Given the description of an element on the screen output the (x, y) to click on. 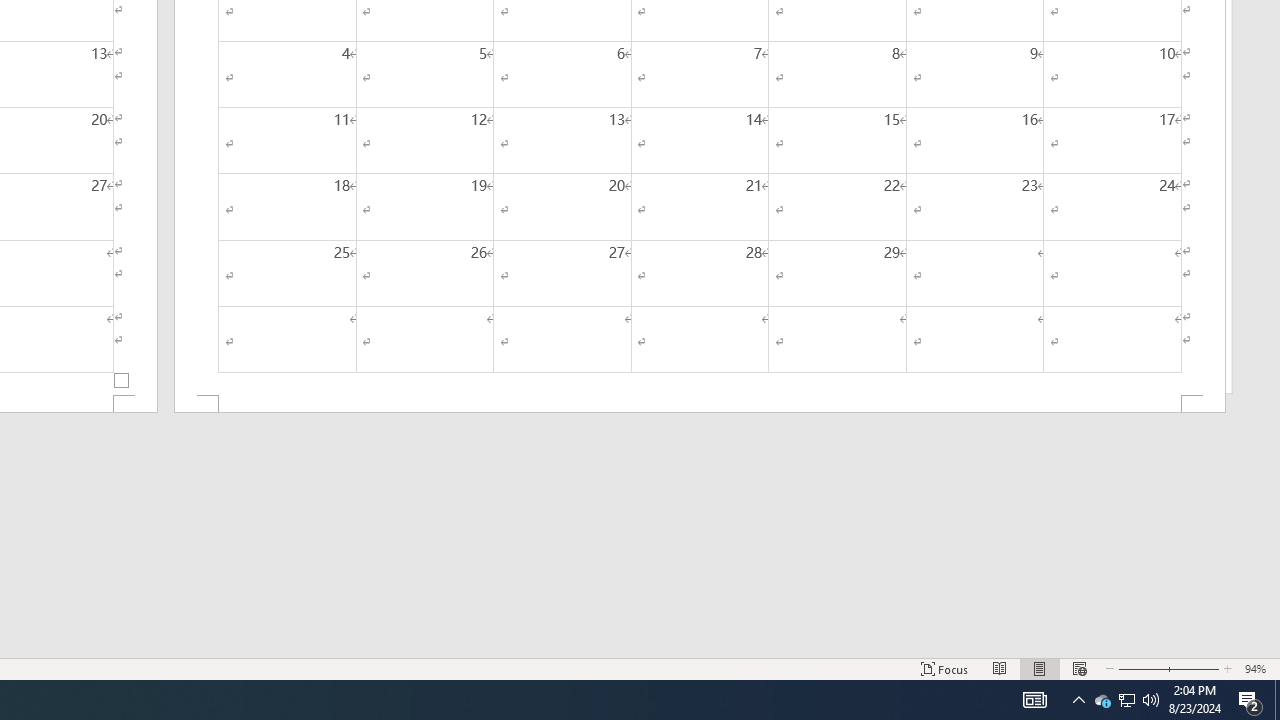
Footer -Section 2- (700, 404)
